Given the description of an element on the screen output the (x, y) to click on. 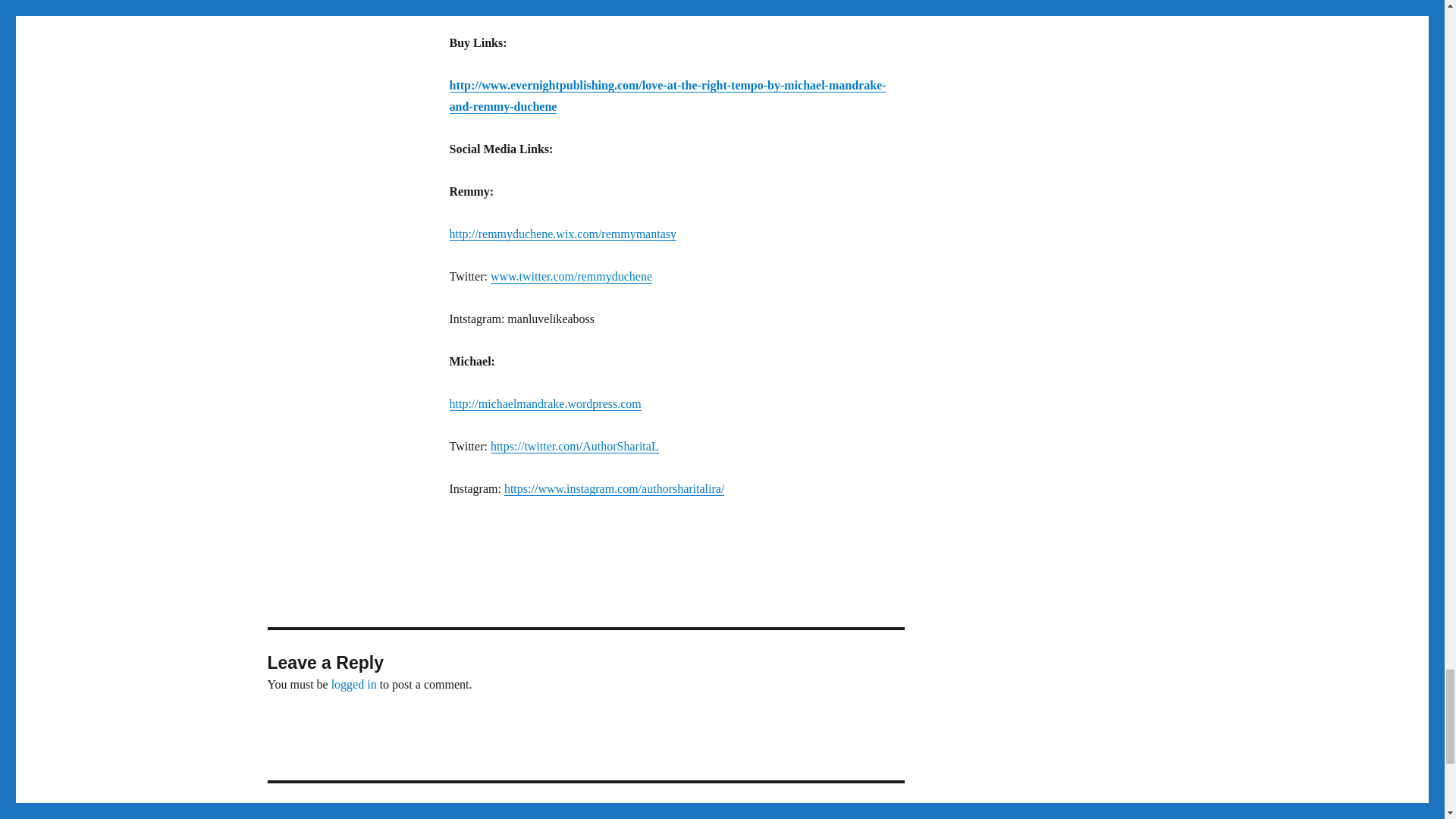
logged in (354, 684)
